Given the description of an element on the screen output the (x, y) to click on. 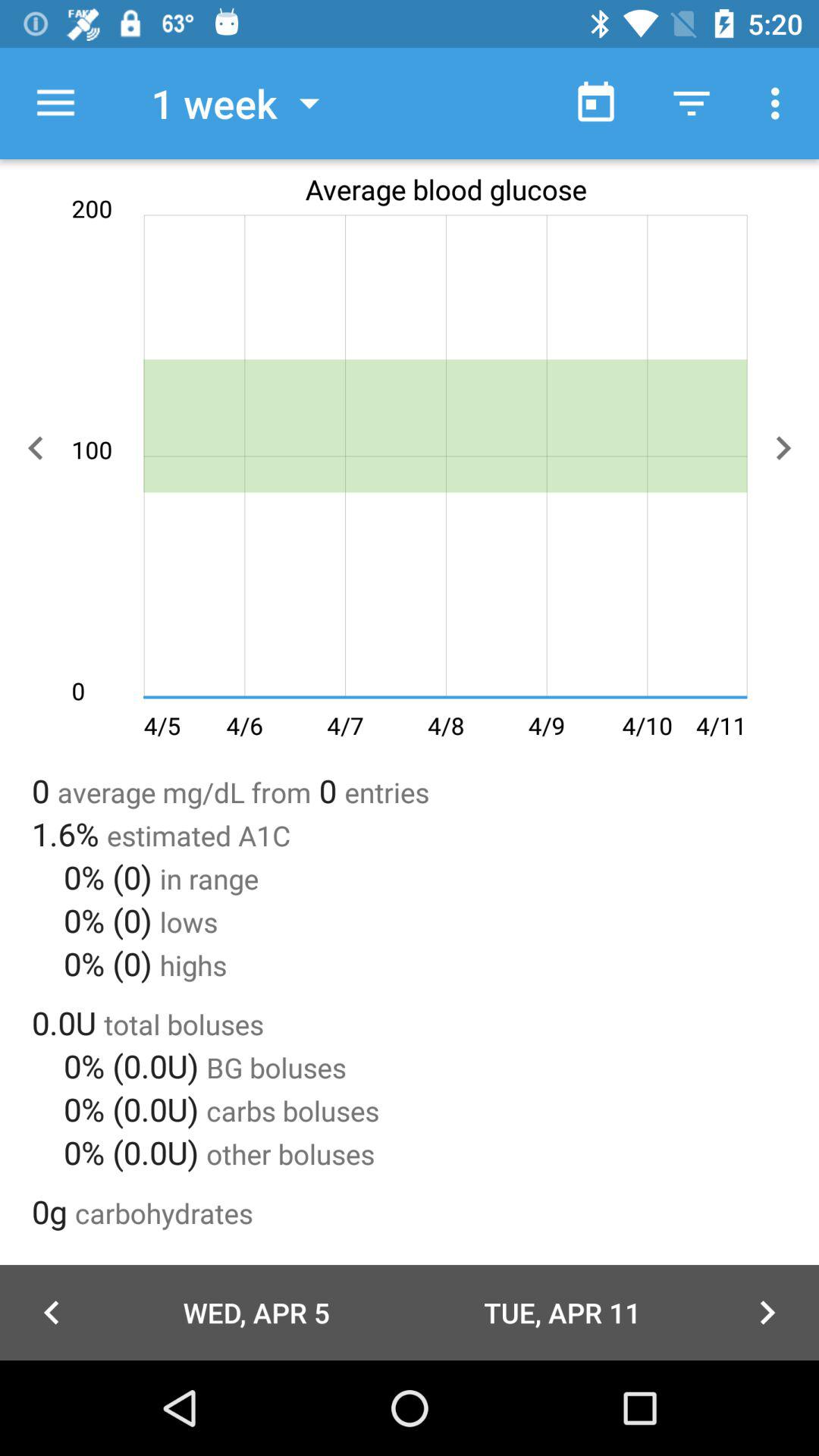
click icon to the right of 1 week icon (595, 103)
